Given the description of an element on the screen output the (x, y) to click on. 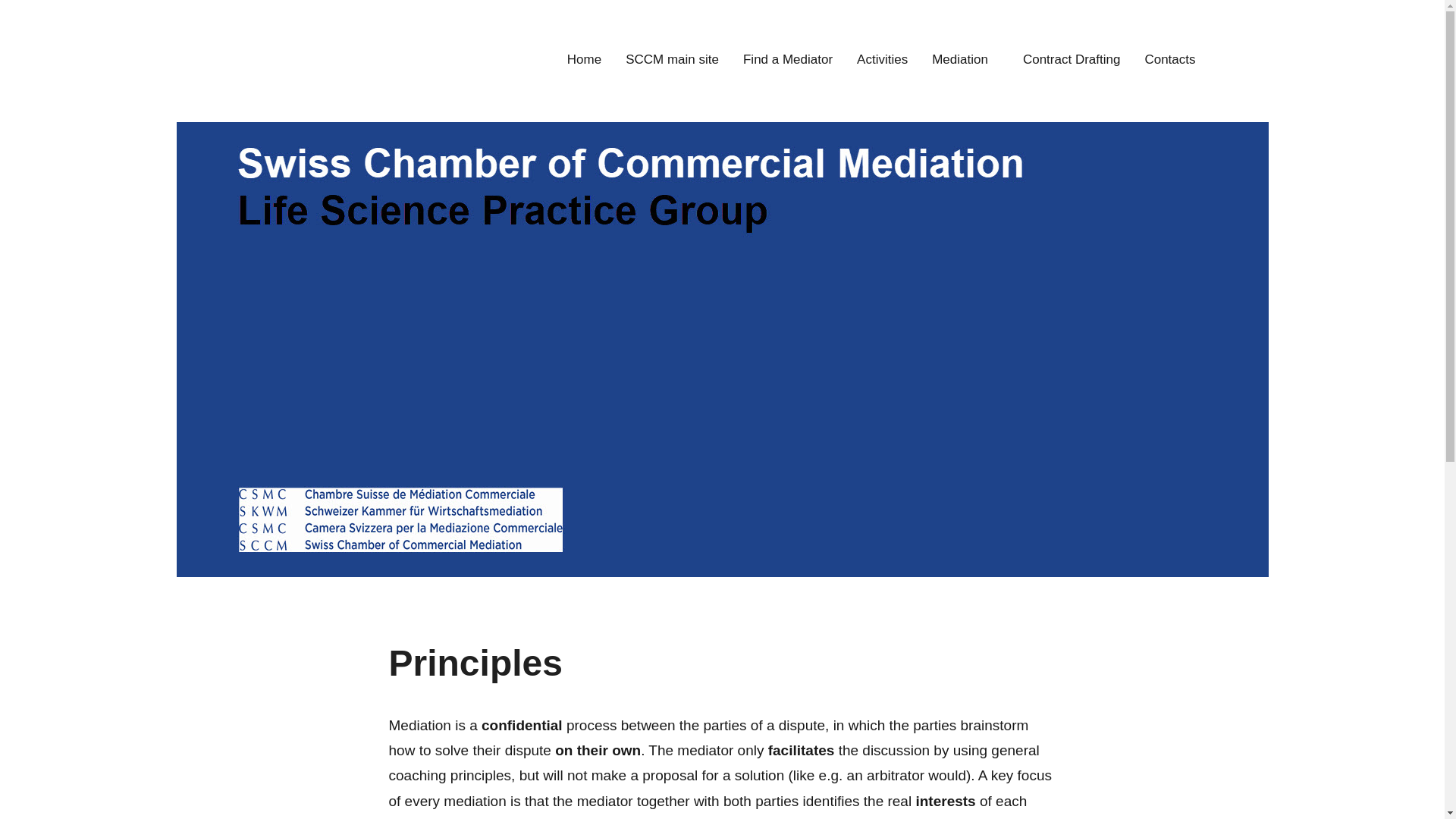
Contract Drafting (1072, 60)
Home (584, 60)
Contacts (1169, 60)
Activities (882, 60)
Mediation (964, 60)
SCCM main site (672, 60)
Find a Mediator (787, 60)
